Given the description of an element on the screen output the (x, y) to click on. 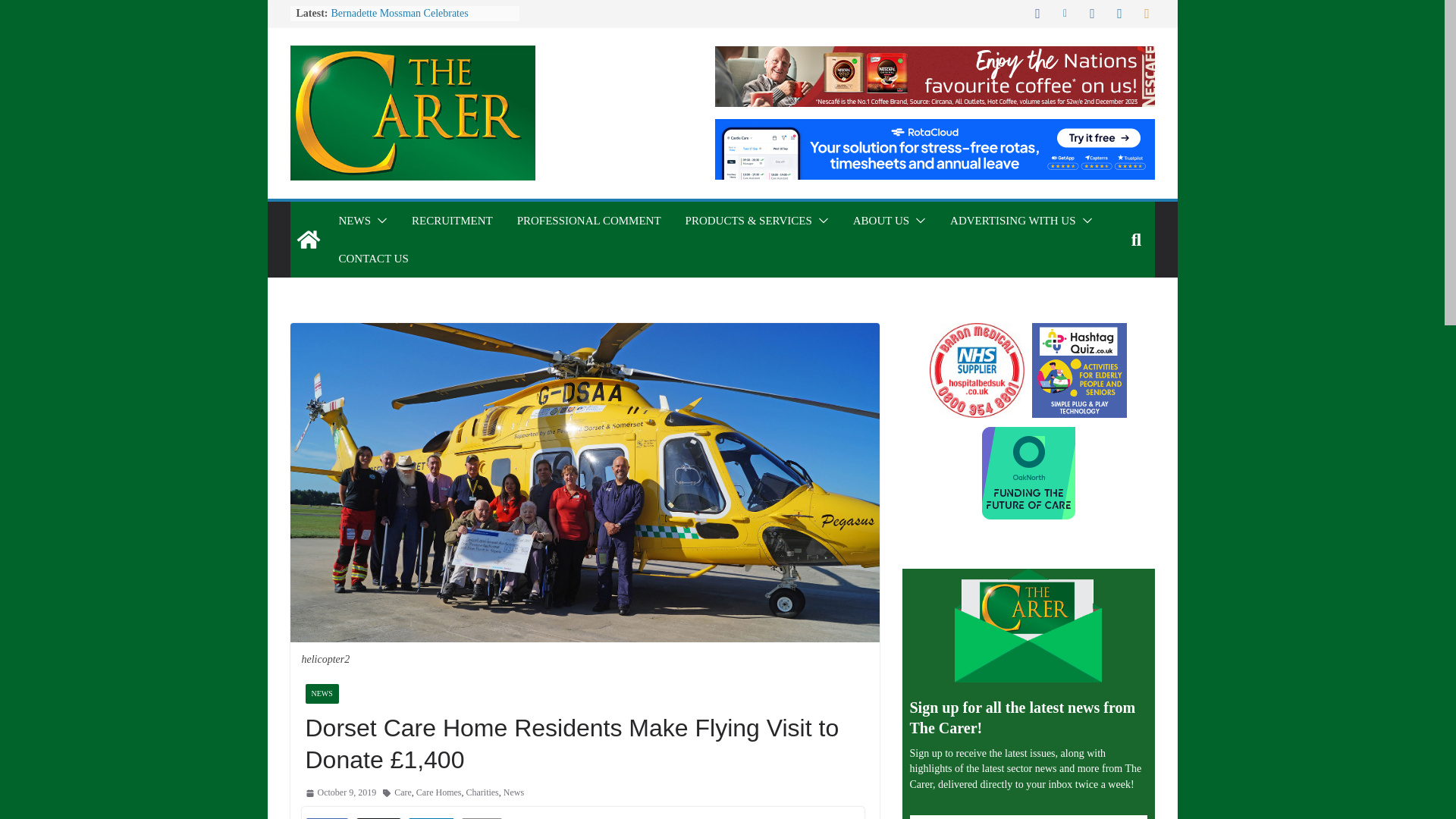
NEWS (354, 220)
PROFESSIONAL COMMENT (588, 220)
The Carer (307, 239)
12:20 pm (339, 792)
RECRUITMENT (452, 220)
